Given the description of an element on the screen output the (x, y) to click on. 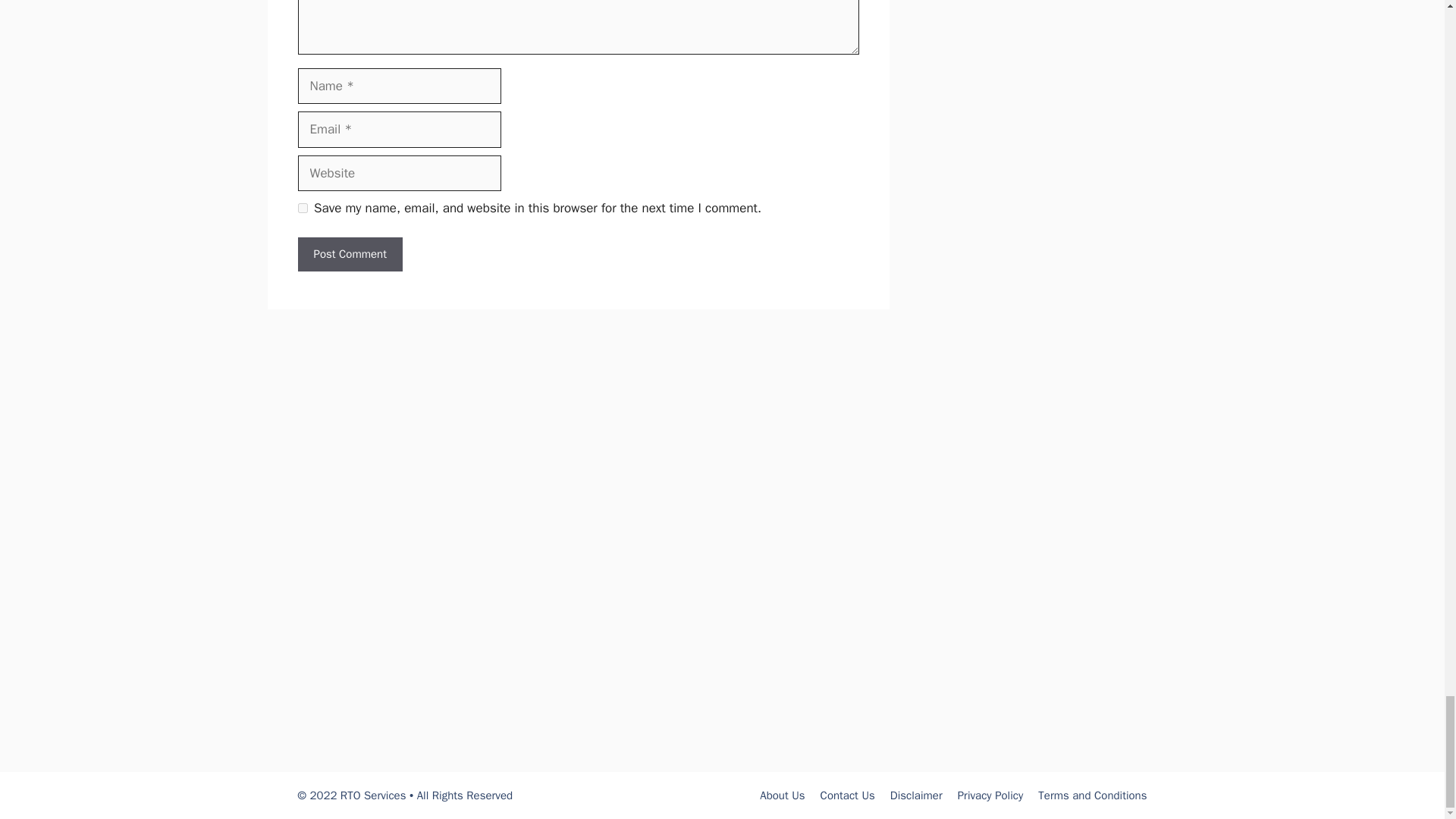
Terms and Conditions (1092, 794)
yes (302, 207)
Contact Us (848, 794)
Disclaimer (915, 794)
Post Comment (349, 254)
Post Comment (349, 254)
Privacy Policy (990, 794)
About Us (782, 794)
